Given the description of an element on the screen output the (x, y) to click on. 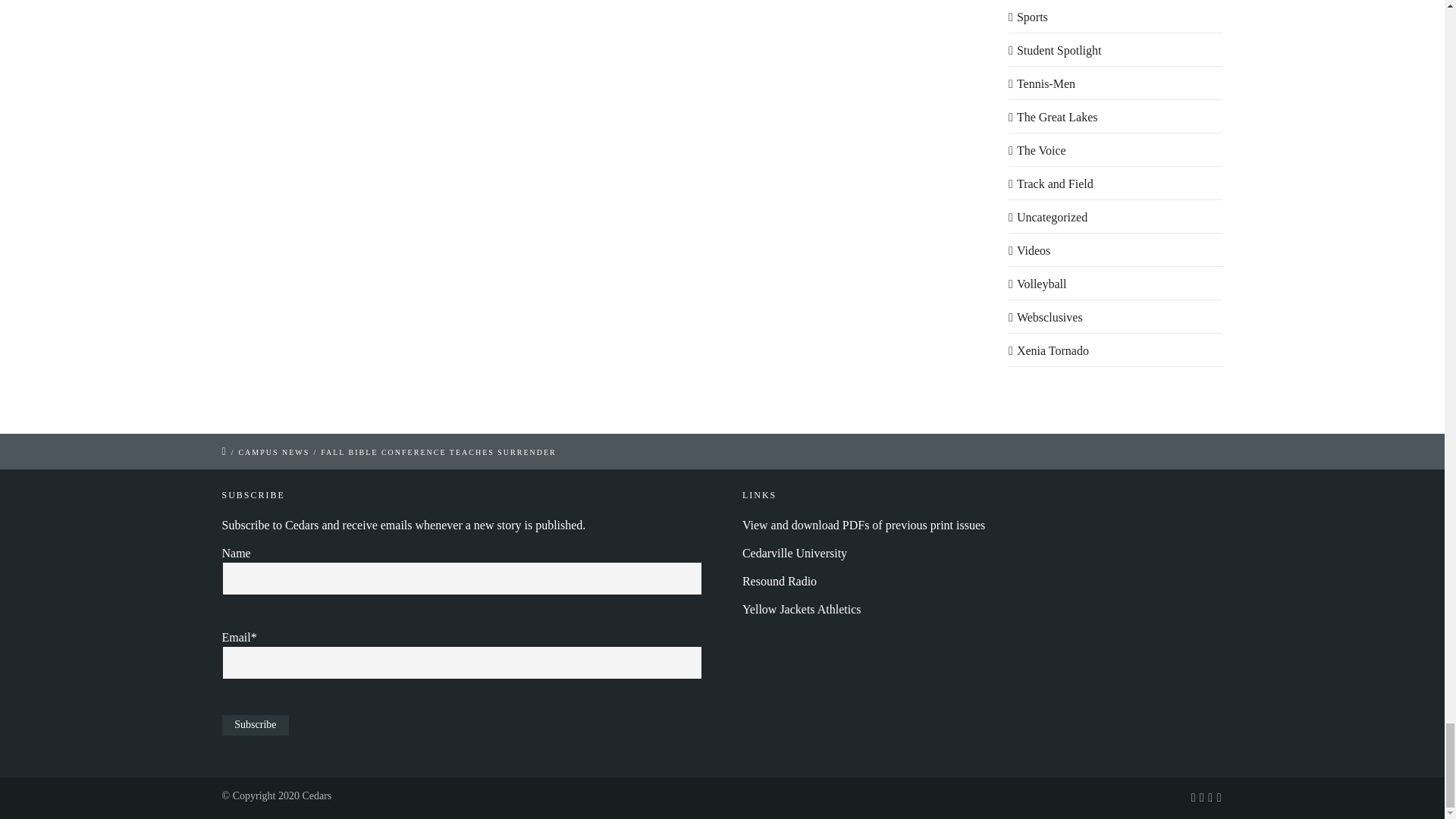
Resound Radio (779, 581)
Previous issues (863, 524)
Cedarville University (794, 553)
Yellow Jackets Athletics (801, 608)
Subscribe (254, 724)
